Given the description of an element on the screen output the (x, y) to click on. 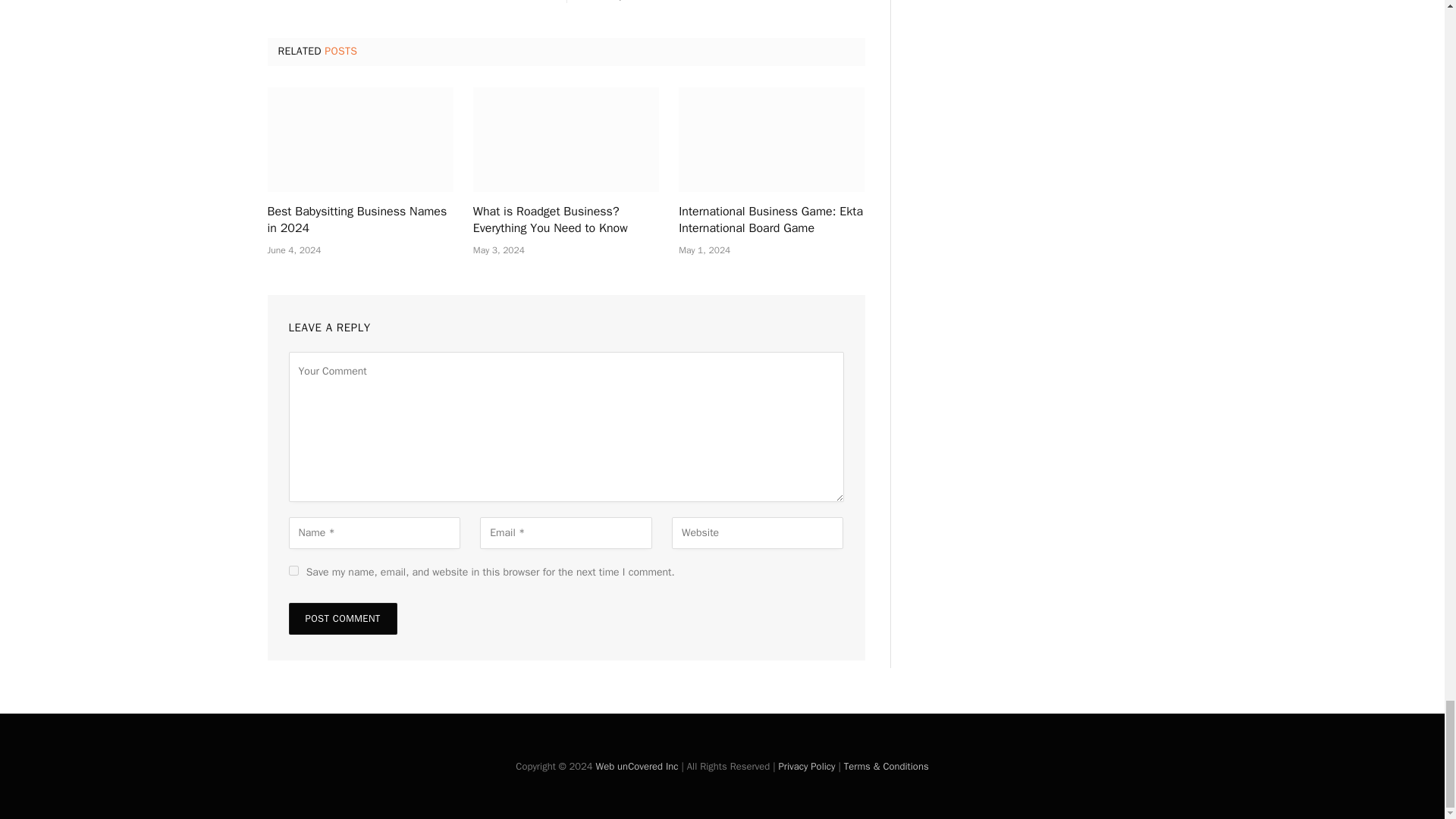
Post Comment (342, 618)
yes (293, 570)
